Given the description of an element on the screen output the (x, y) to click on. 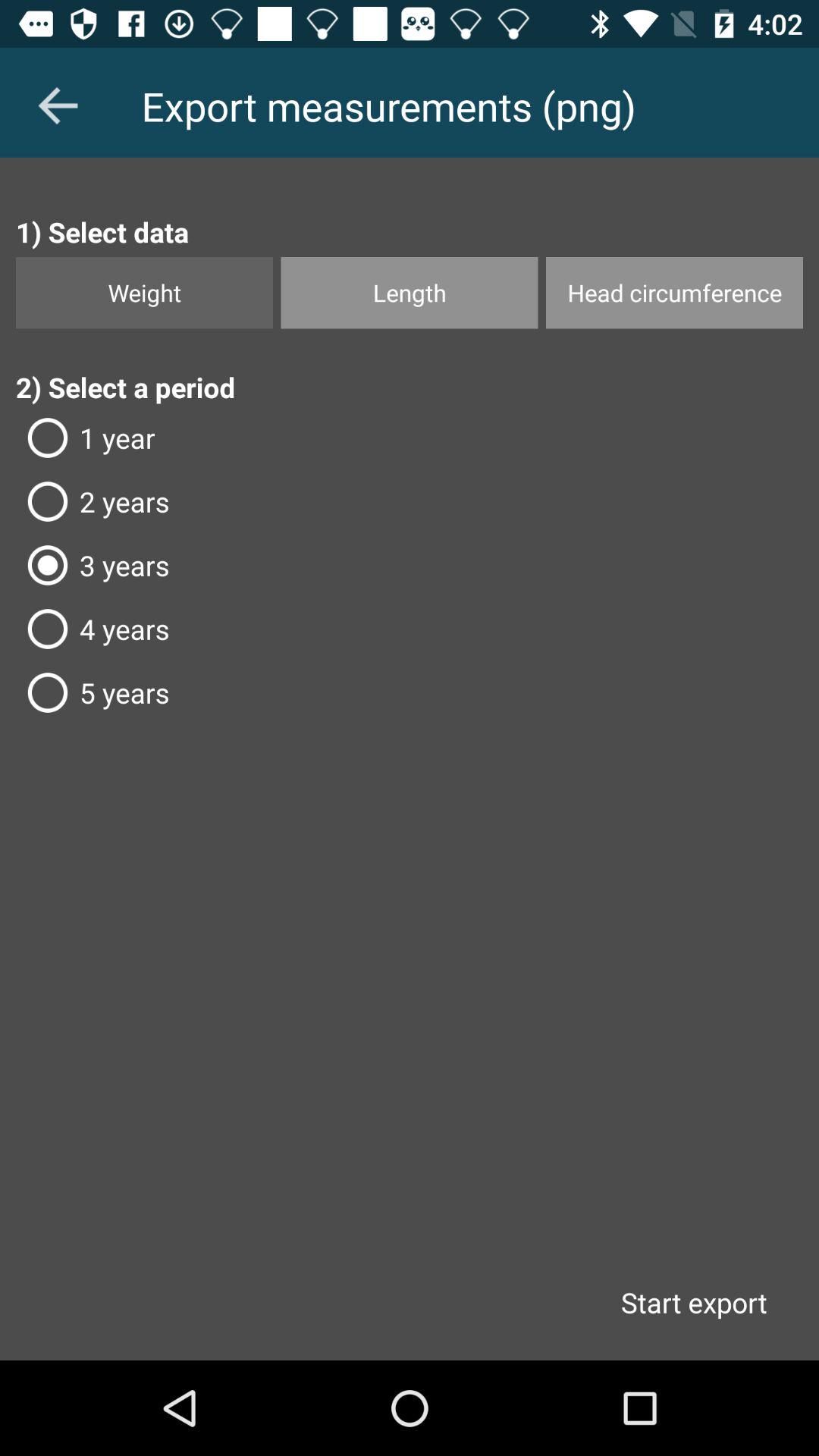
open item above the 1) select data item (57, 105)
